Given the description of an element on the screen output the (x, y) to click on. 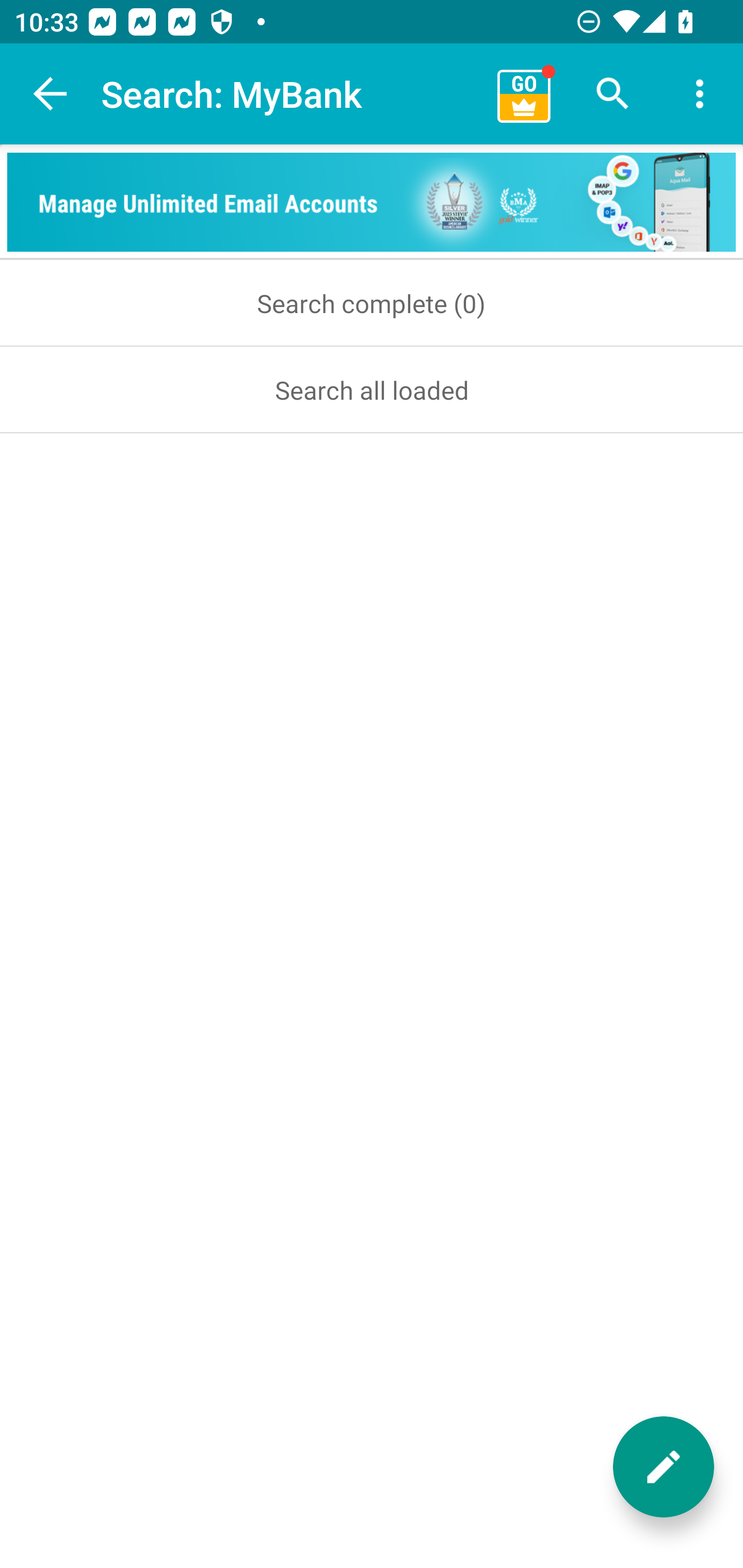
Navigate up (50, 93)
Search (612, 93)
More options (699, 93)
Search complete (0) (371, 303)
Search all loaded (371, 389)
New message (663, 1466)
